Given the description of an element on the screen output the (x, y) to click on. 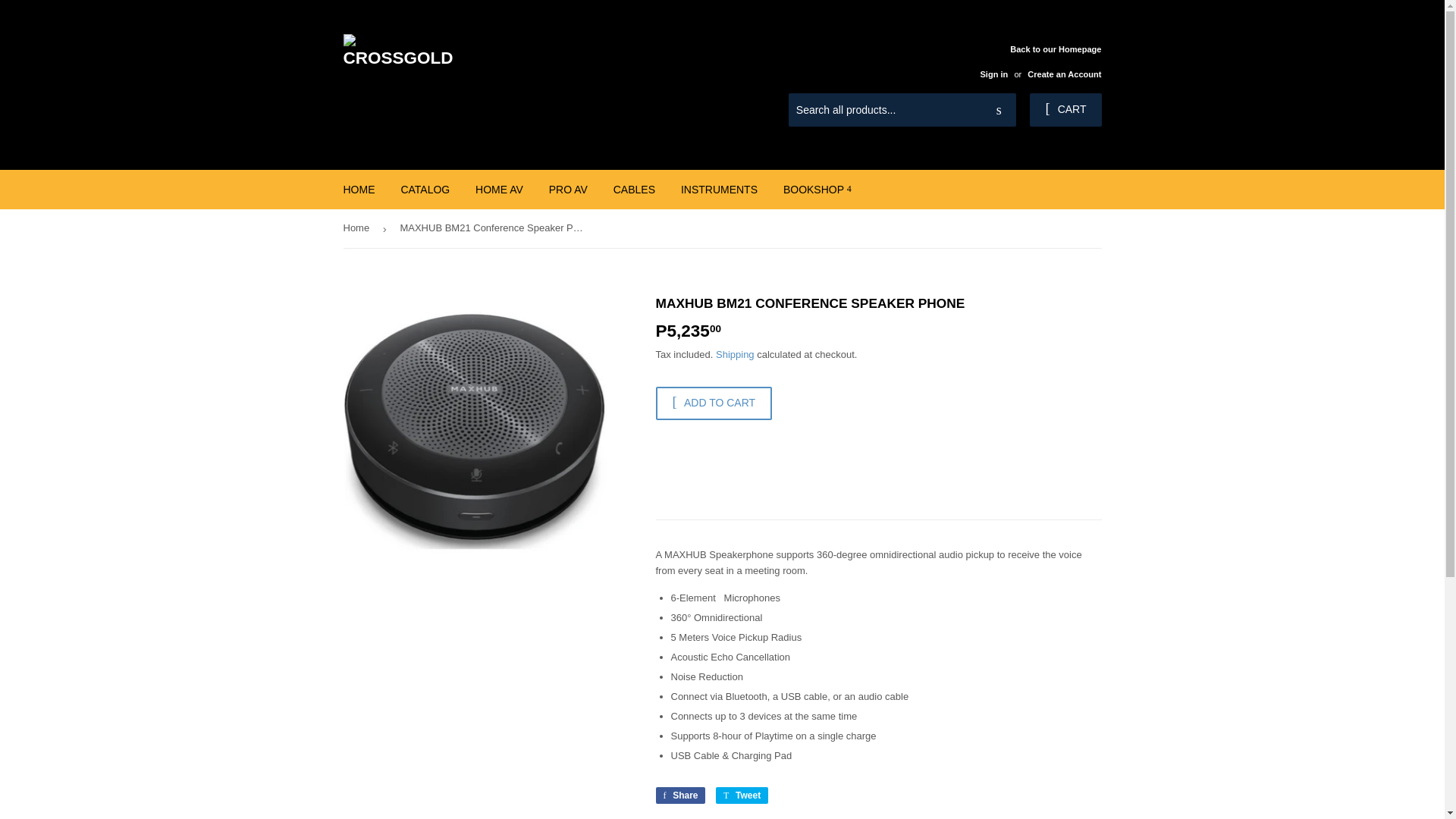
INSTRUMENTS (718, 189)
Tweet on Twitter (742, 795)
Share on Facebook (679, 795)
Back to our Homepage (1034, 60)
Create an Account (1063, 73)
CATALOG (424, 189)
Sign in (993, 73)
Shipping (735, 354)
BOOKSHOP (817, 189)
HOME AV (499, 189)
CABLES (634, 189)
PRO AV (567, 189)
Search (998, 110)
CART (1064, 109)
HOME (359, 189)
